Given the description of an element on the screen output the (x, y) to click on. 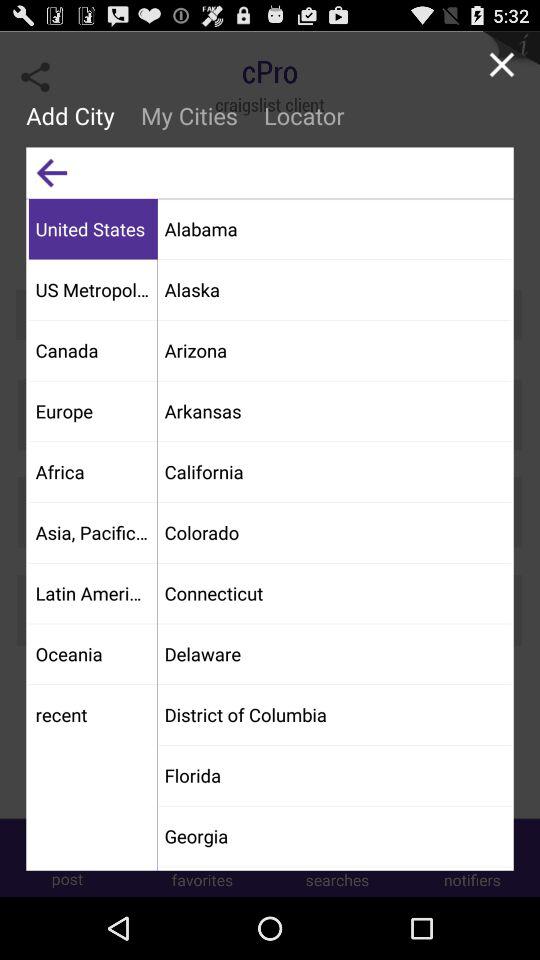
close (501, 63)
